Given the description of an element on the screen output the (x, y) to click on. 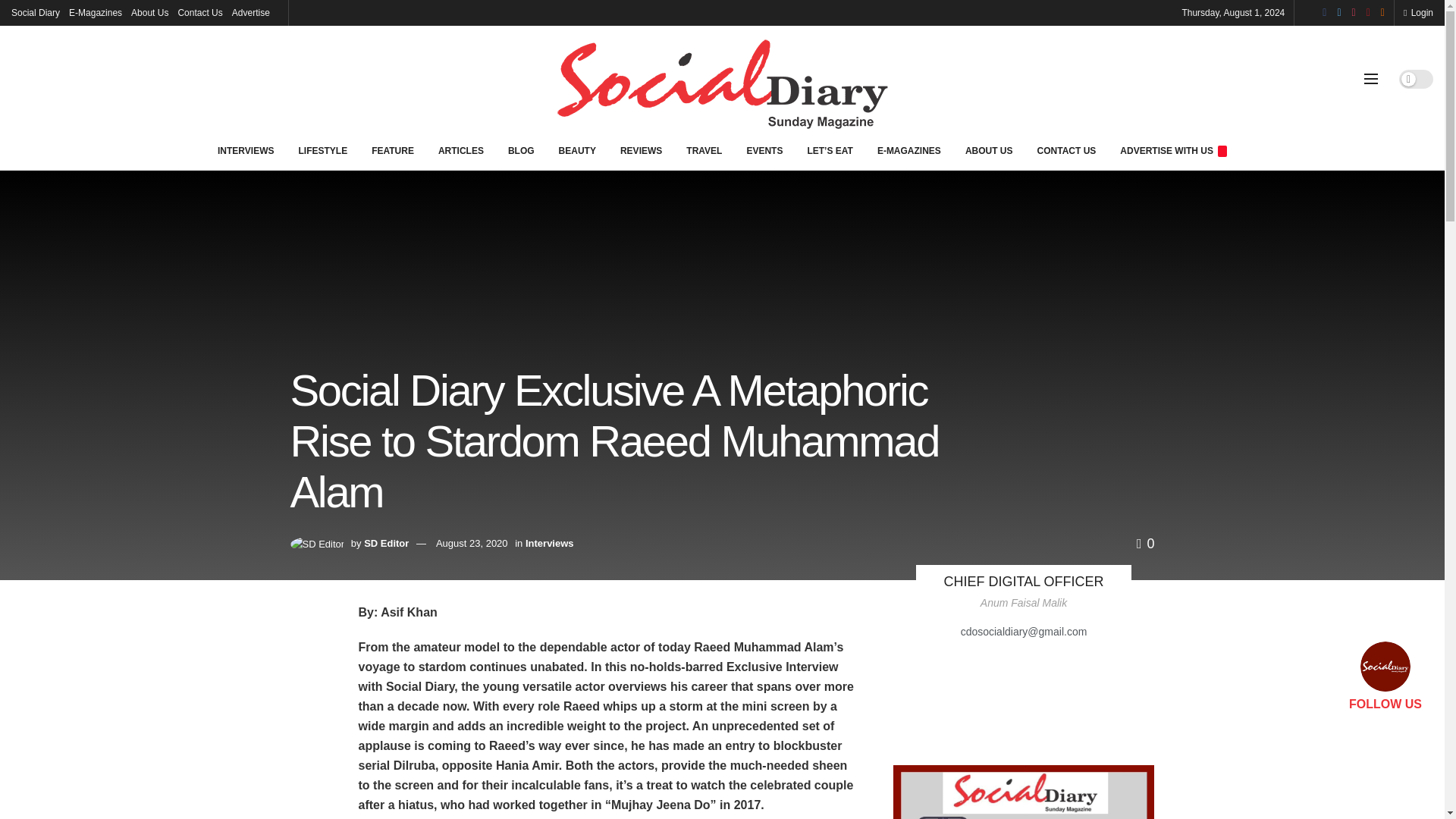
TRAVEL (703, 150)
FEATURE (392, 150)
ABOUT US (989, 150)
Contact Us (199, 12)
ADVERTISE WITH US (1173, 150)
ARTICLES (461, 150)
E-Magazines (95, 12)
About Us (149, 12)
E-MAGAZINES (908, 150)
BEAUTY (577, 150)
LIFESTYLE (322, 150)
Social Diary (35, 12)
INTERVIEWS (245, 150)
Login (1417, 12)
Advertise (250, 12)
